Given the description of an element on the screen output the (x, y) to click on. 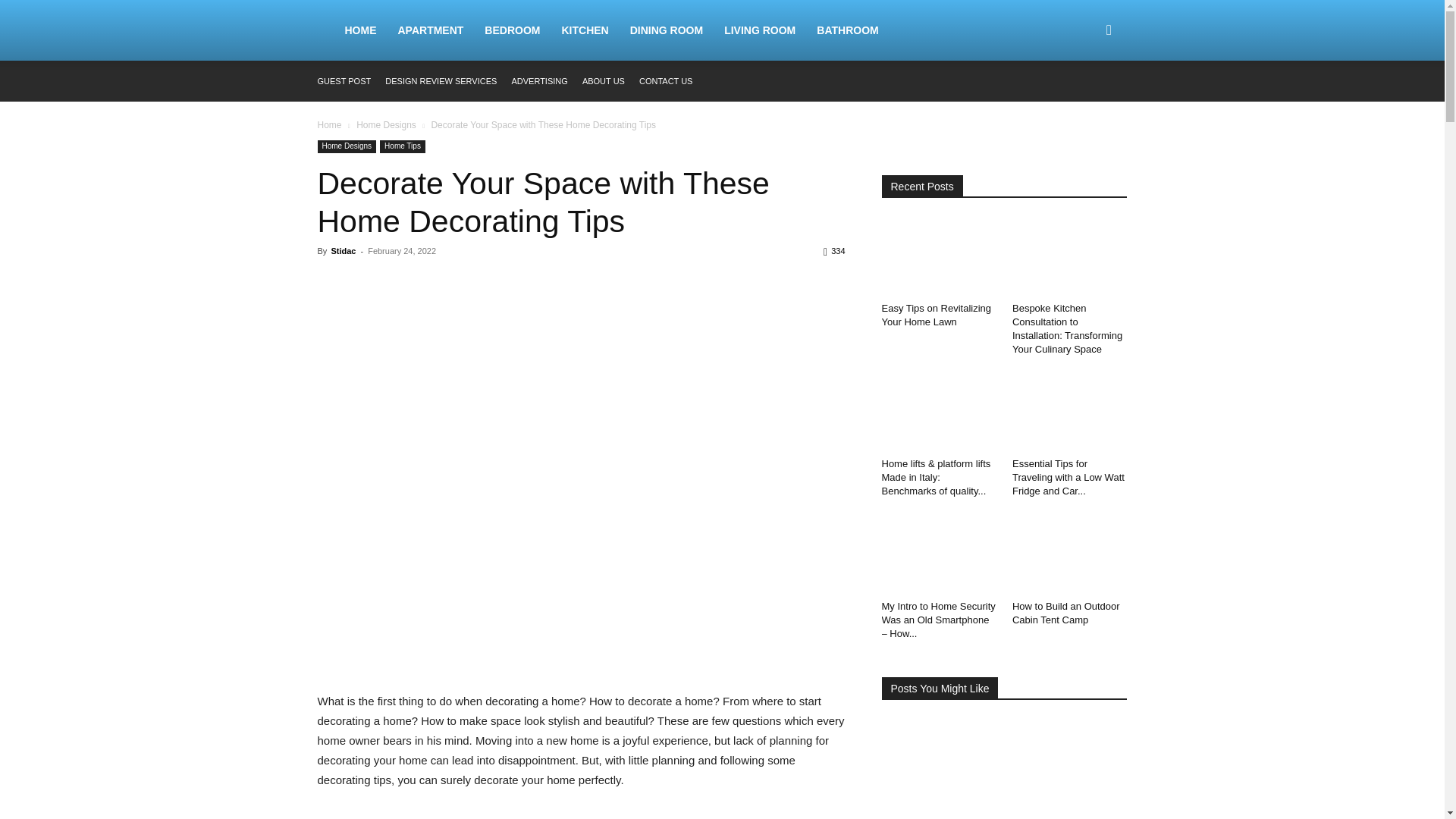
Home Tips (402, 146)
HOME (360, 30)
ABOUT US (603, 80)
DINING ROOM (666, 30)
Search (1085, 102)
BEDROOM (512, 30)
LIVING ROOM (759, 30)
CONTACT US (666, 80)
DESIGN REVIEW SERVICES (440, 80)
Home Designs (386, 124)
View all posts in Home Designs (386, 124)
APARTMENT (430, 30)
BATHROOM (847, 30)
ADVERTISING (539, 80)
